Given the description of an element on the screen output the (x, y) to click on. 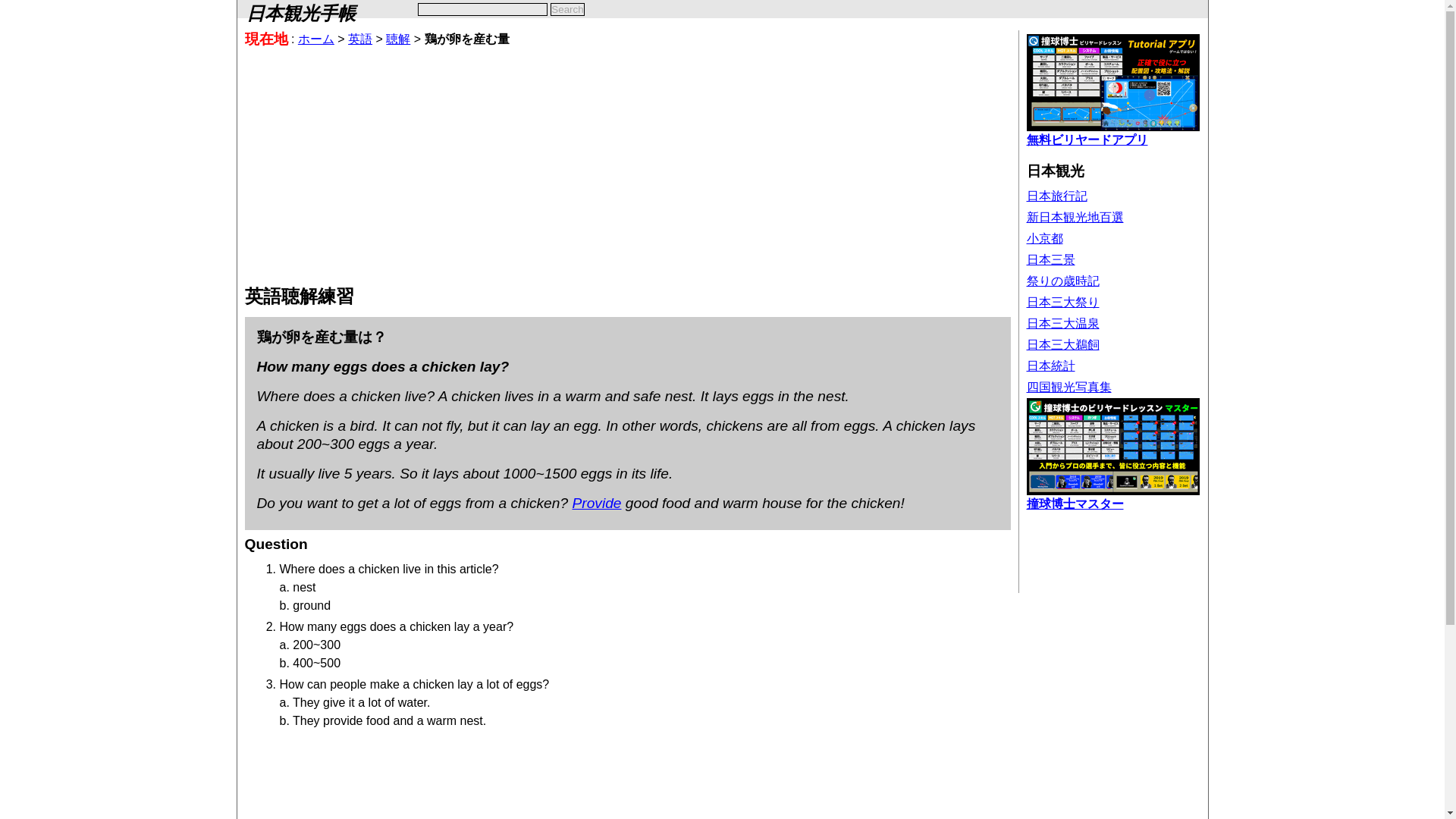
Search (566, 9)
Search (566, 9)
Provide (596, 503)
Advertisement (1072, 554)
Advertisement (627, 786)
